Given the description of an element on the screen output the (x, y) to click on. 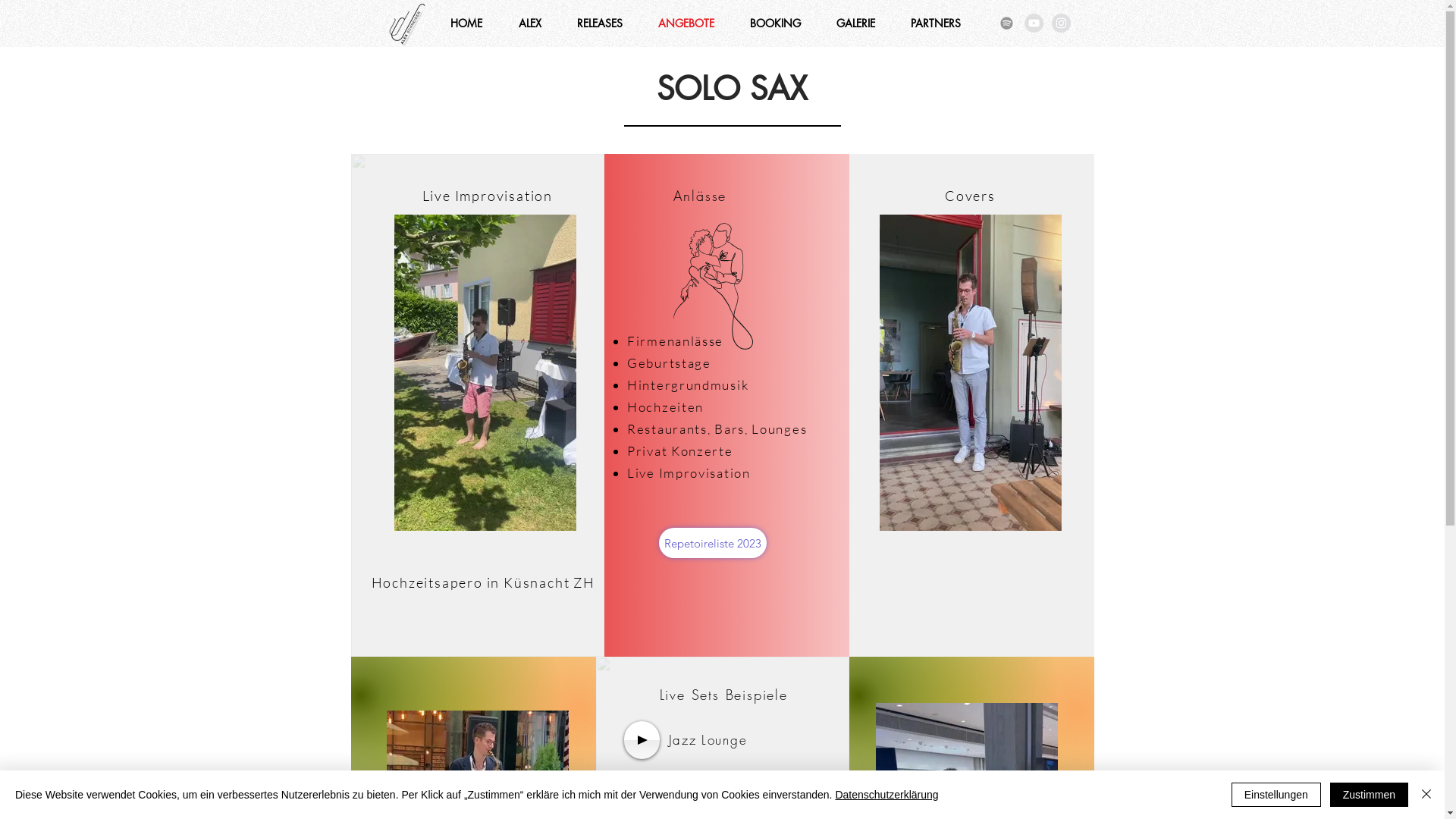
ALEX Element type: text (529, 23)
Zustimmen Element type: text (1369, 794)
PARTNERS Element type: text (936, 23)
BOOKING Element type: text (775, 23)
ANGEBOTE Element type: text (685, 23)
GALERIE Element type: text (856, 23)
Repetoireliste 2023 Element type: text (711, 542)
Einstellungen Element type: text (1276, 794)
RELEASES Element type: text (599, 23)
HOME Element type: text (466, 23)
